Given the description of an element on the screen output the (x, y) to click on. 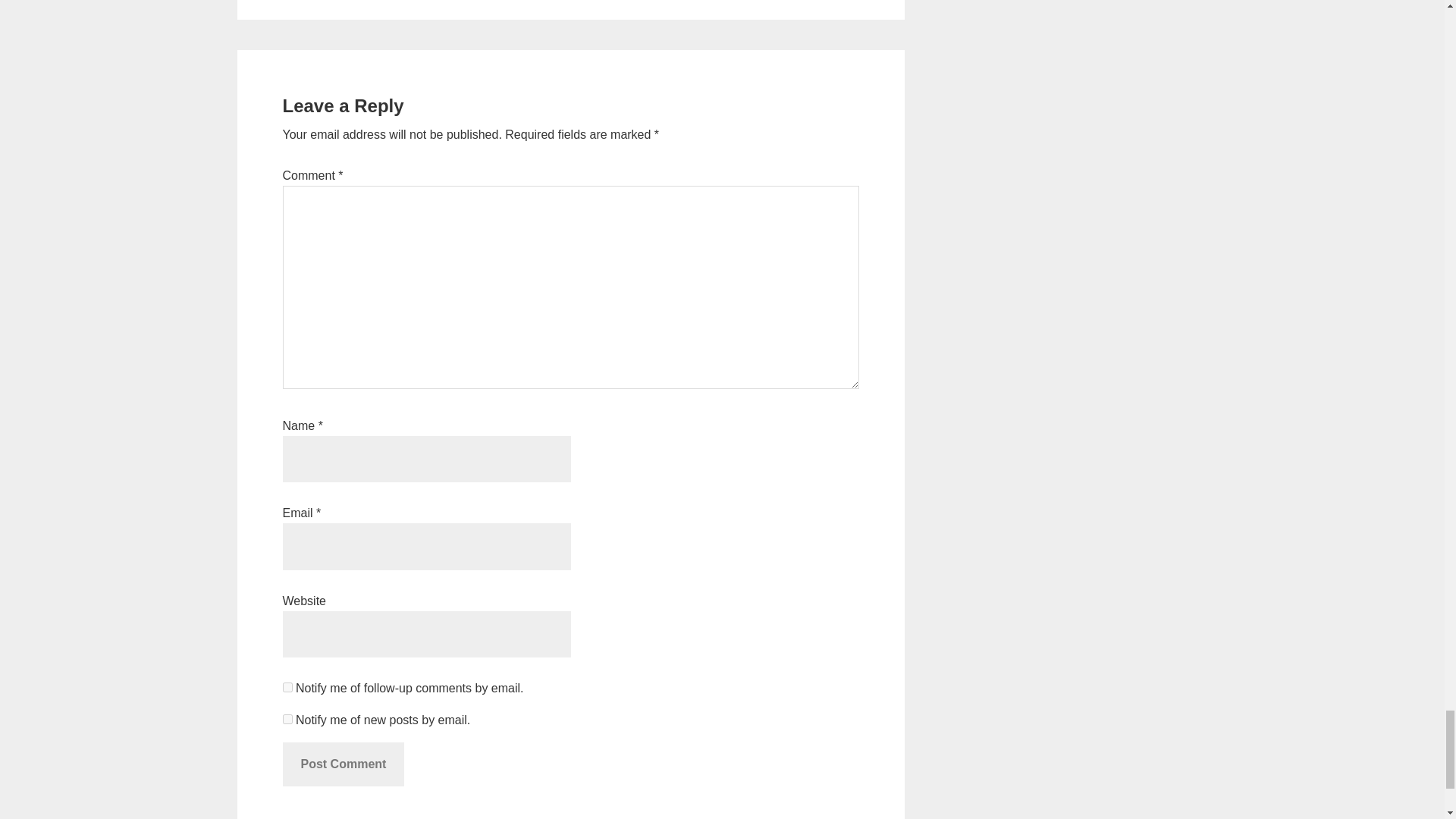
subscribe (287, 718)
Post Comment (343, 764)
subscribe (287, 687)
